Given the description of an element on the screen output the (x, y) to click on. 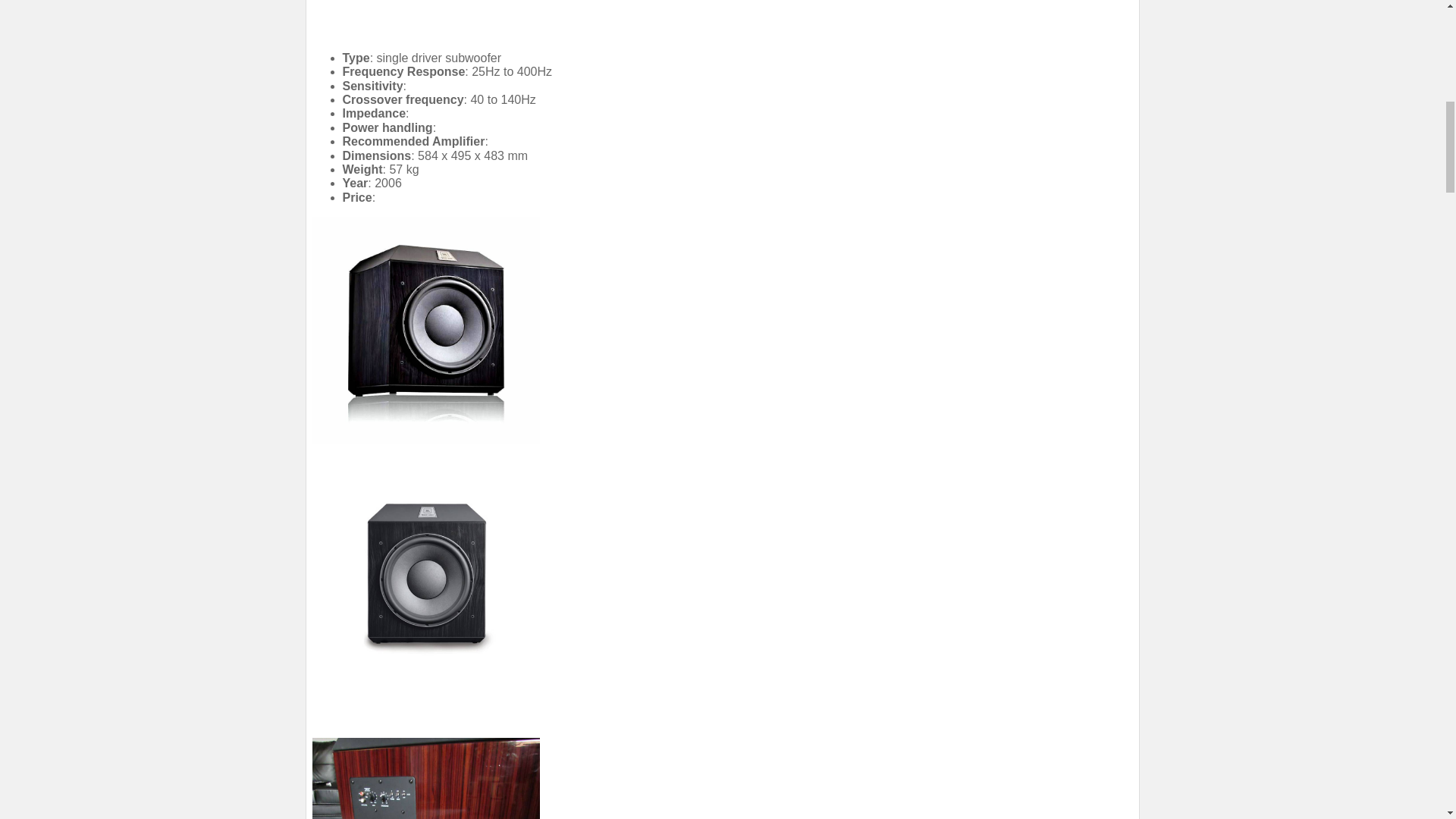
JBL 1500 Array (426, 573)
JBL 1500 Array (426, 778)
JBL 1500 Array (426, 330)
